Given the description of an element on the screen output the (x, y) to click on. 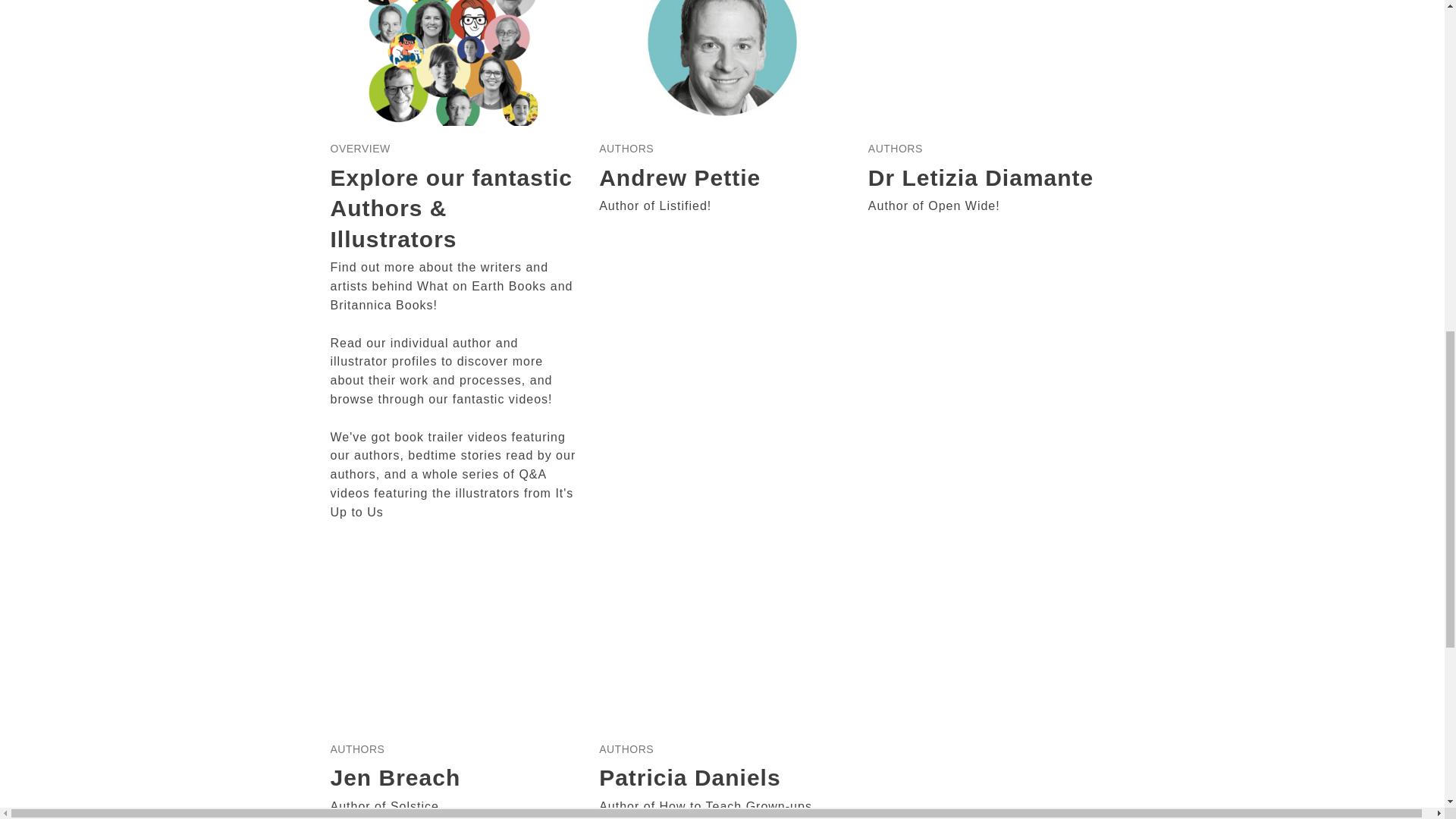
Dr Letizia Diamante (980, 177)
Andrew Pettie (679, 177)
Patricia Daniels (689, 777)
Jen Breach (395, 777)
